Given the description of an element on the screen output the (x, y) to click on. 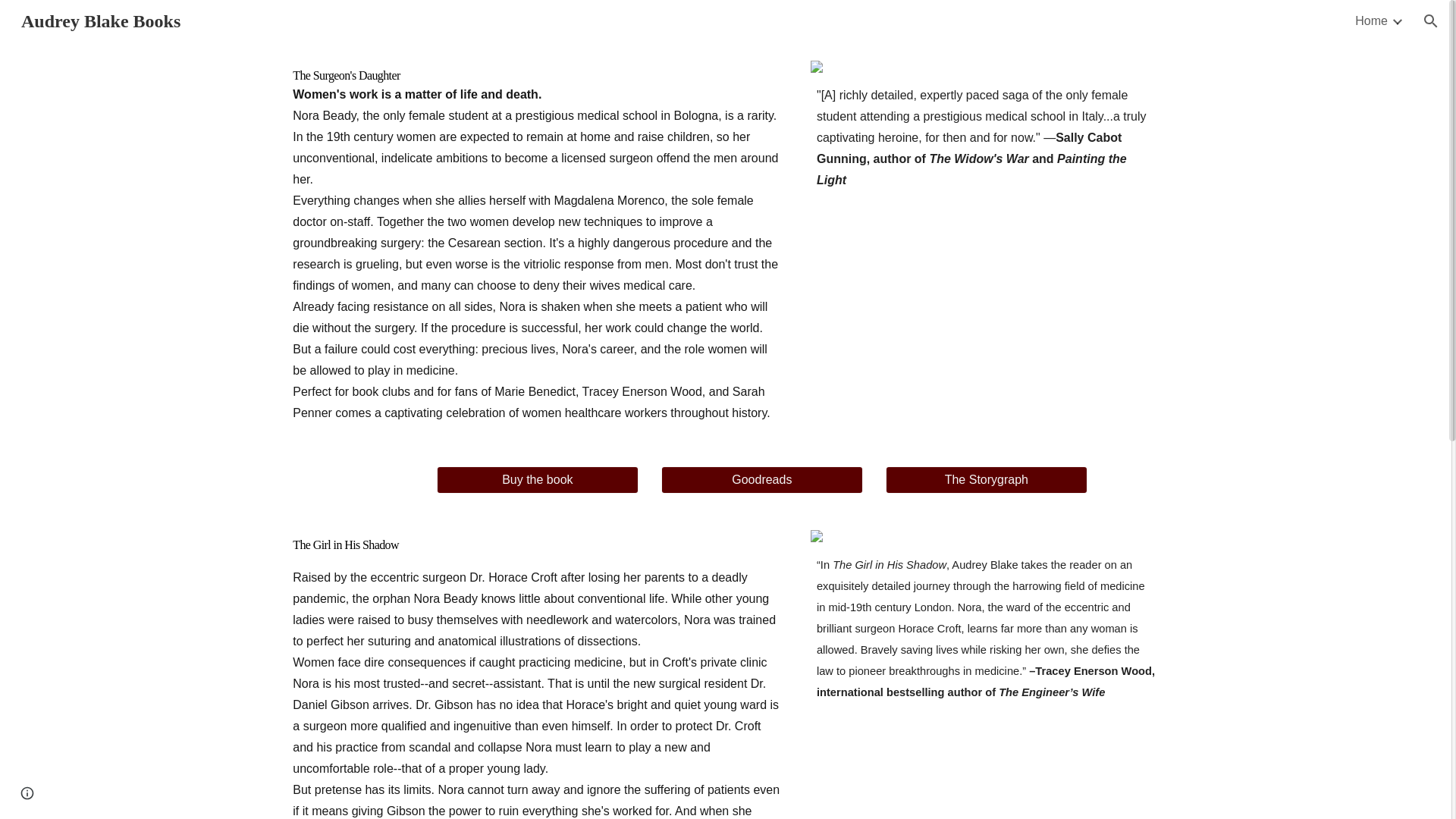
Goodreads (761, 479)
Audrey Blake Books (100, 19)
The Storygraph (986, 479)
Home (1371, 20)
Buy the book (537, 479)
